Given the description of an element on the screen output the (x, y) to click on. 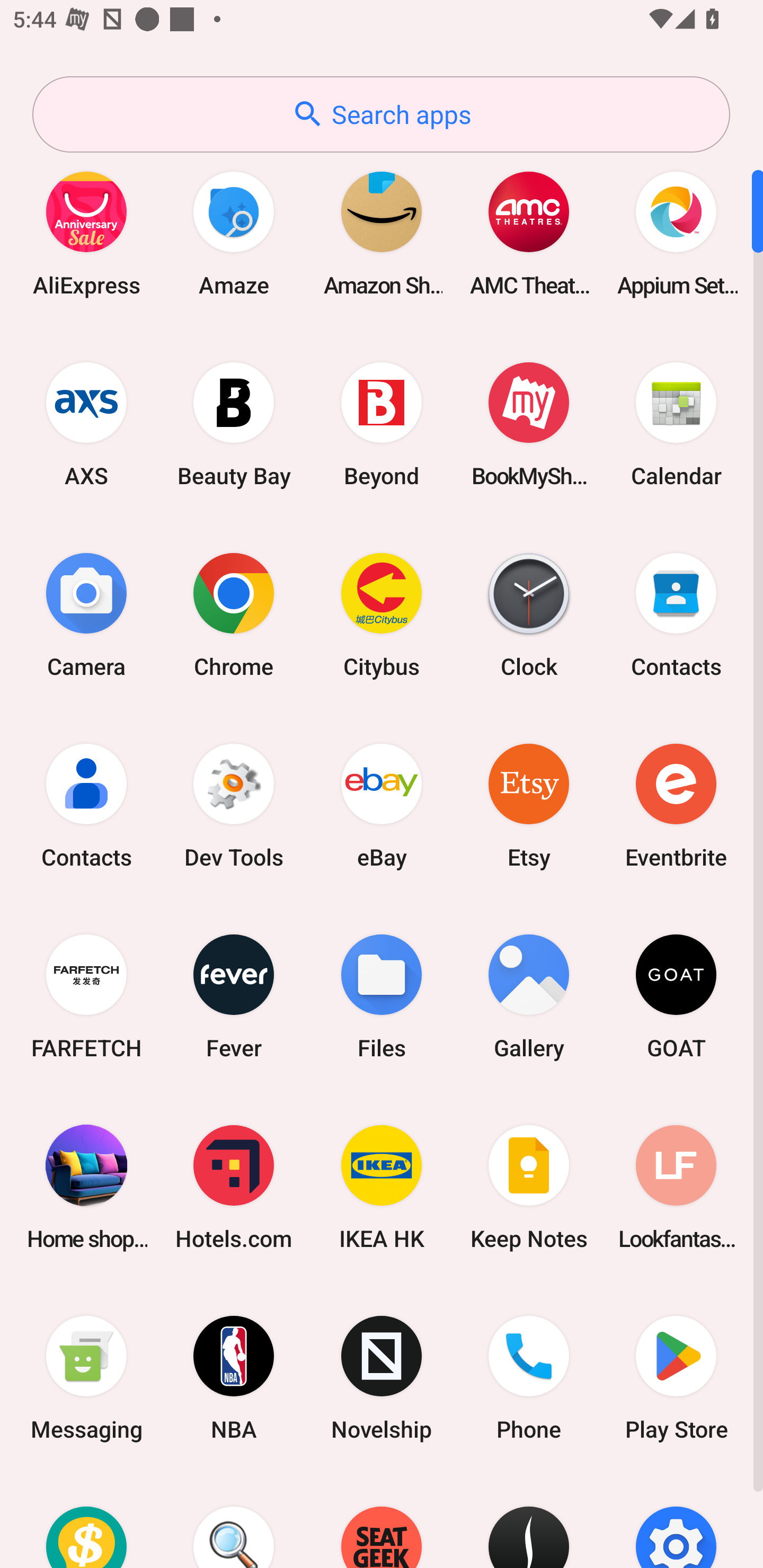
  Search apps (381, 114)
AliExpress (86, 233)
Amaze (233, 233)
Amazon Shopping (381, 233)
AMC Theatres (528, 233)
Appium Settings (676, 233)
AXS (86, 424)
Beauty Bay (233, 424)
Beyond (381, 424)
BookMyShow (528, 424)
Calendar (676, 424)
Camera (86, 614)
Chrome (233, 614)
Citybus (381, 614)
Clock (528, 614)
Contacts (676, 614)
Contacts (86, 805)
Dev Tools (233, 805)
eBay (381, 805)
Etsy (528, 805)
Eventbrite (676, 805)
FARFETCH (86, 996)
Fever (233, 996)
Files (381, 996)
Gallery (528, 996)
GOAT (676, 996)
Home shopping (86, 1186)
Hotels.com (233, 1186)
IKEA HK (381, 1186)
Keep Notes (528, 1186)
Lookfantastic (676, 1186)
Messaging (86, 1377)
NBA (233, 1377)
Novelship (381, 1377)
Phone (528, 1377)
Play Store (676, 1377)
Price (86, 1520)
Search (233, 1520)
SeatGeek (381, 1520)
Sephora (528, 1520)
Settings (676, 1520)
